Given the description of an element on the screen output the (x, y) to click on. 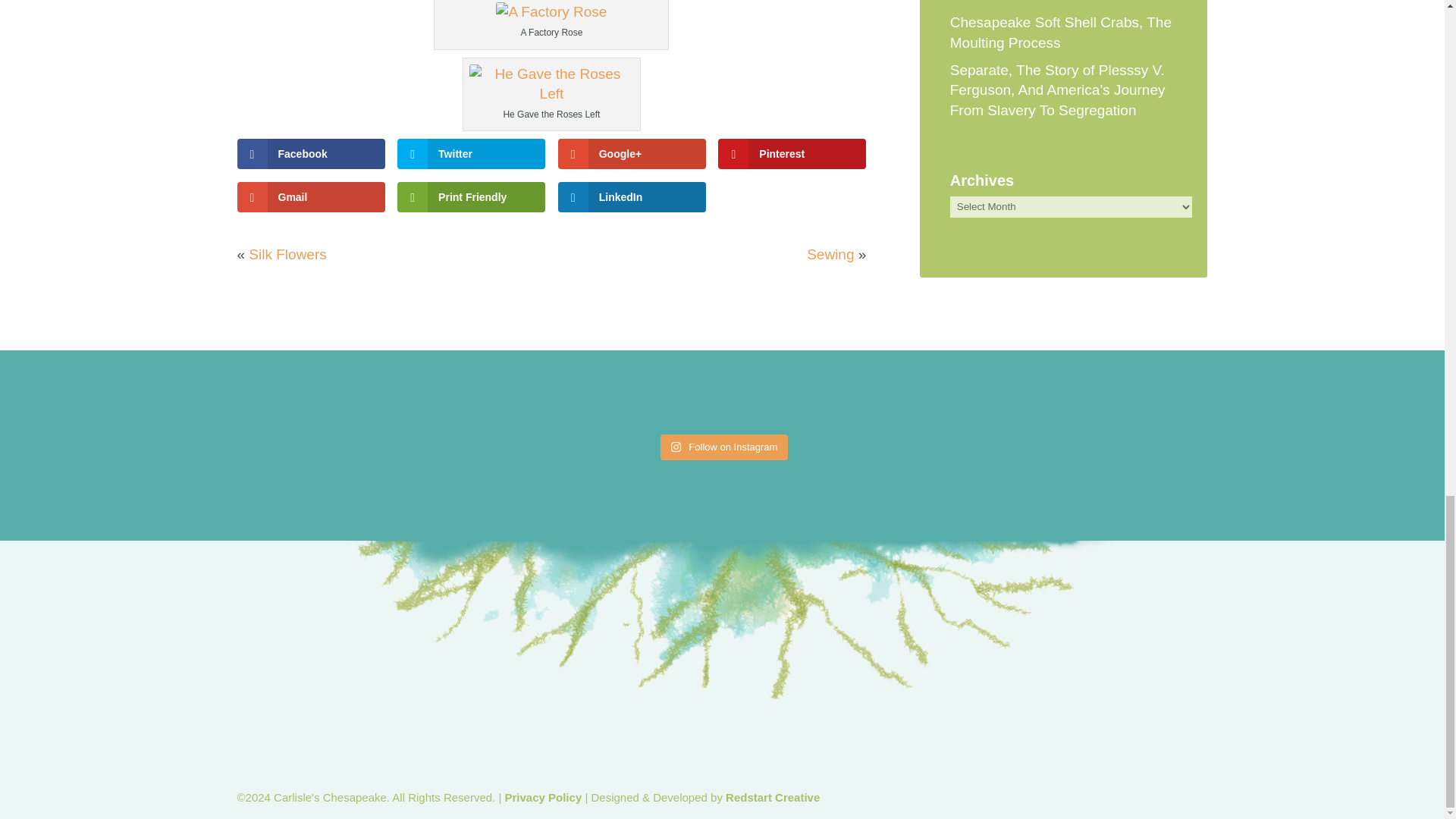
CarlisleFlowers.net (550, 84)
Print Friendly (470, 196)
Facebook (309, 153)
Pinterest (791, 153)
Twitter (470, 153)
CarlisleFlowers.net (551, 12)
Gmail (309, 196)
